Given the description of an element on the screen output the (x, y) to click on. 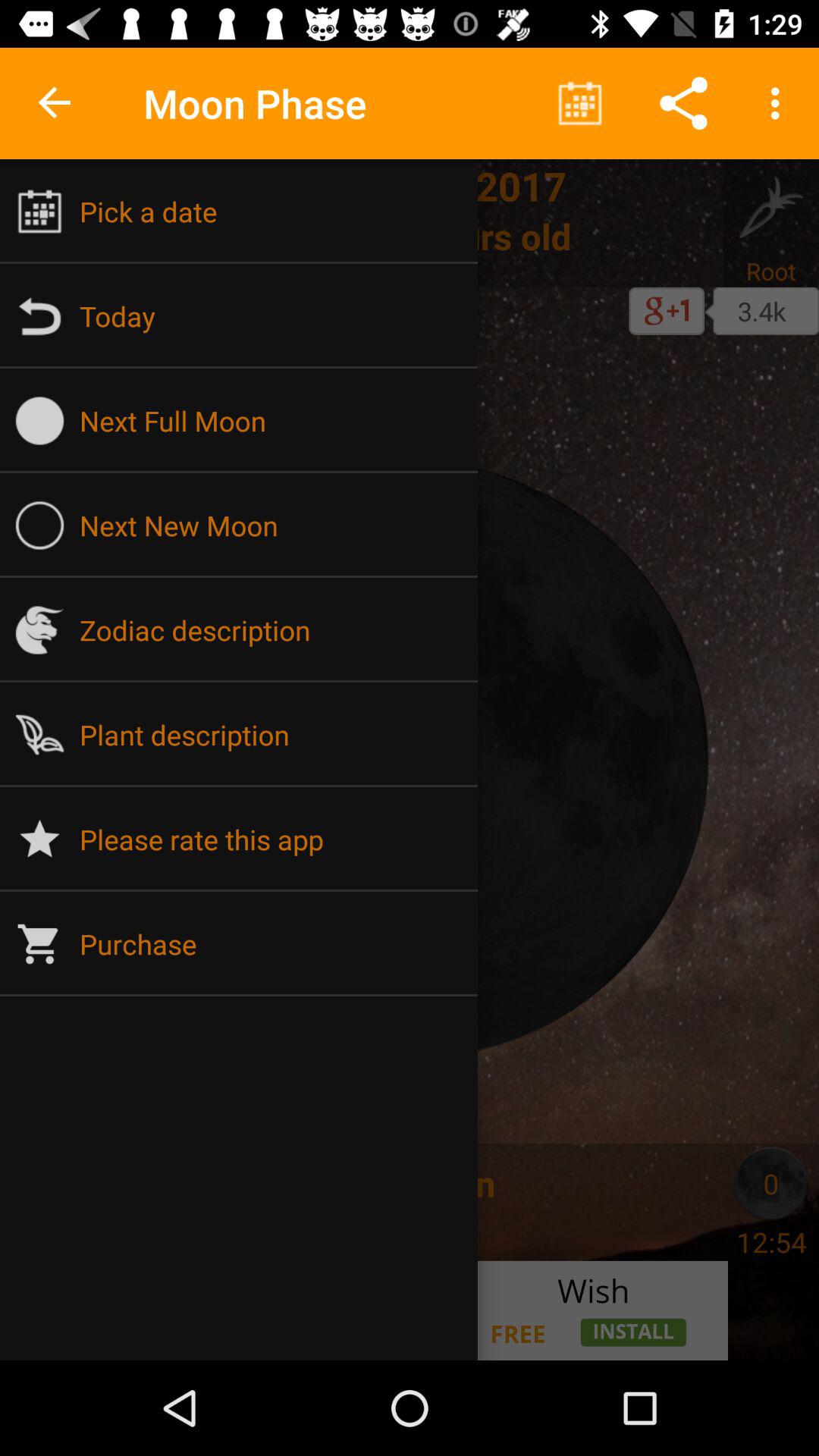
improper tagging (47, 1182)
click on the symbol which is beside plant (40, 735)
select the icon at left side of pick a date (40, 211)
click on the share button right to the menu (683, 103)
